Given the description of an element on the screen output the (x, y) to click on. 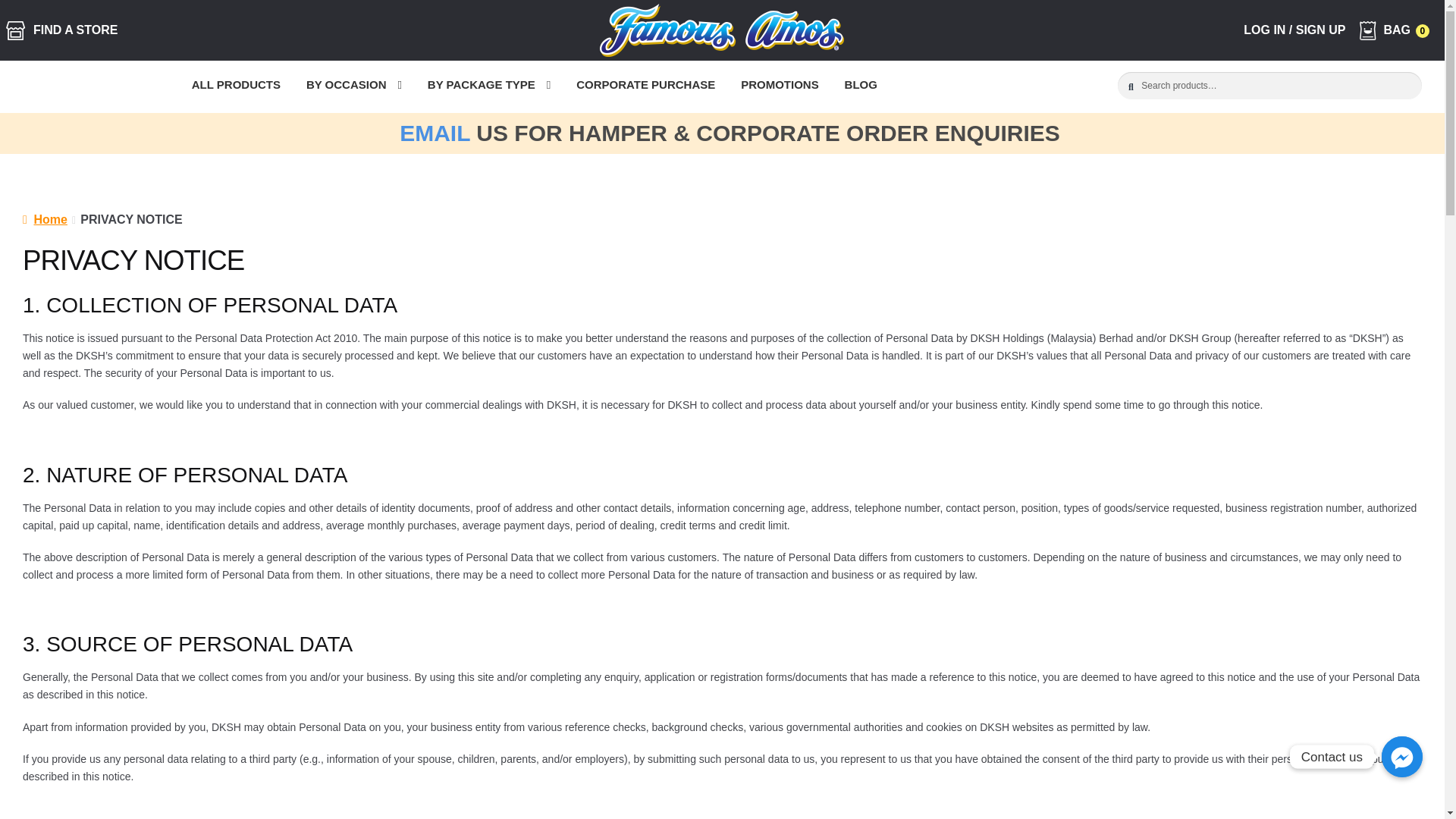
FIND A STORE (61, 29)
BY OCCASION (354, 85)
ALL PRODUCTS (236, 85)
